Given the description of an element on the screen output the (x, y) to click on. 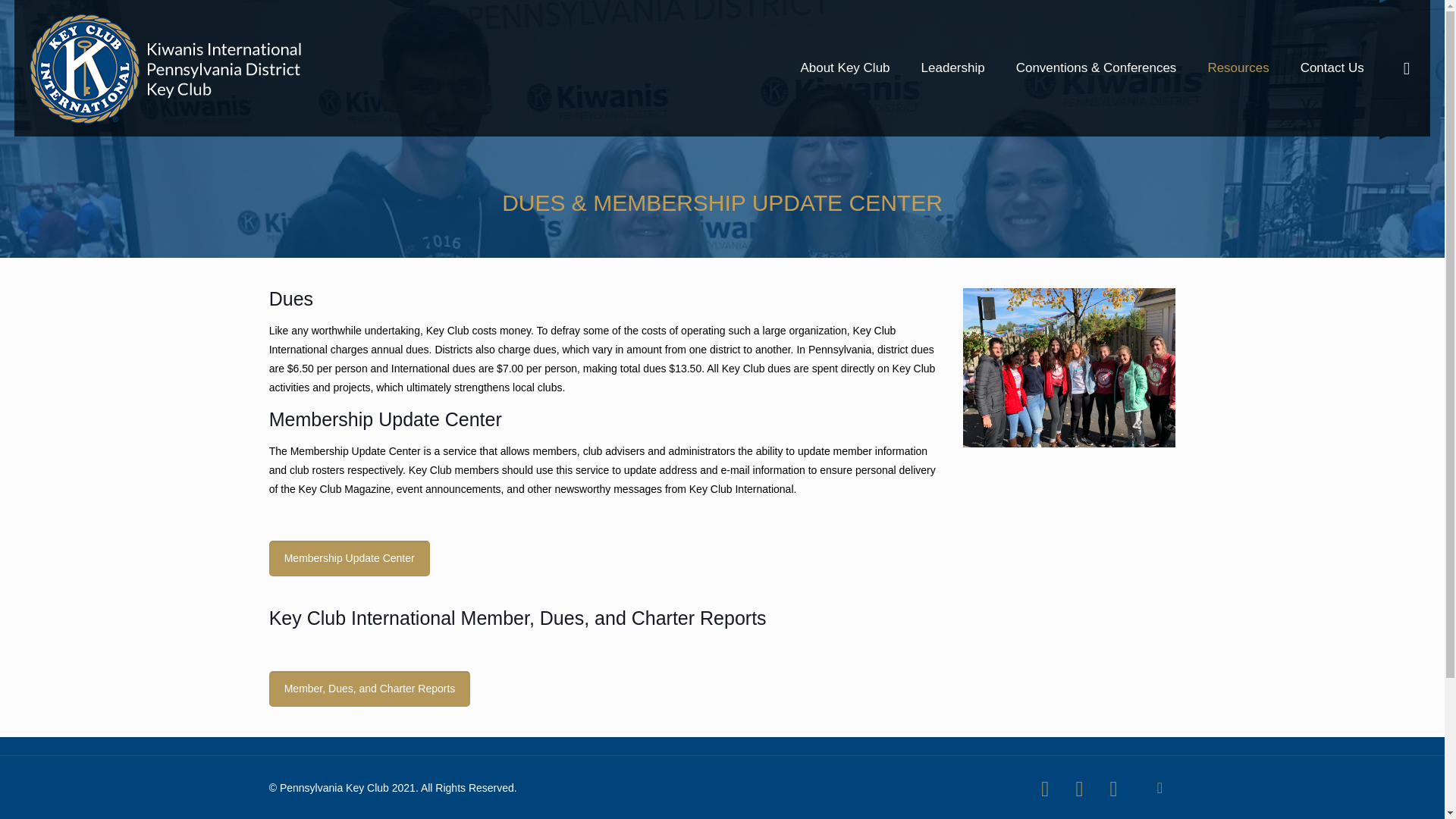
YouTube (1113, 788)
About Key Club (844, 68)
Resources (1238, 68)
Pennsylvania District Key Club (168, 68)
Leadership (953, 68)
Facebook (1044, 788)
Twitter (1079, 788)
